Given the description of an element on the screen output the (x, y) to click on. 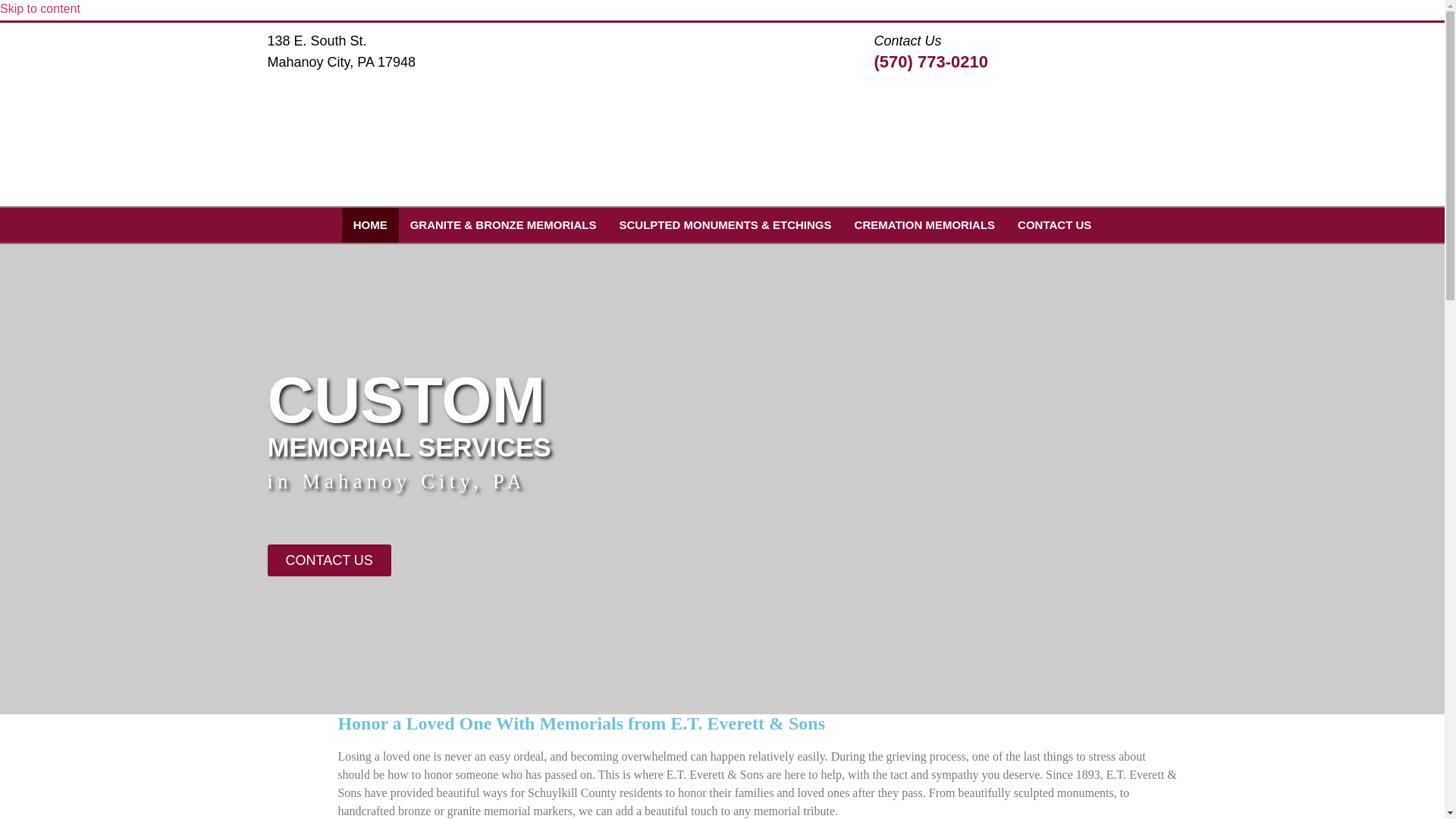
CREMATION MEMORIALS (925, 225)
CONTACT US (1054, 225)
Skip to content (40, 8)
HOME (370, 225)
CONTACT US (328, 560)
